Given the description of an element on the screen output the (x, y) to click on. 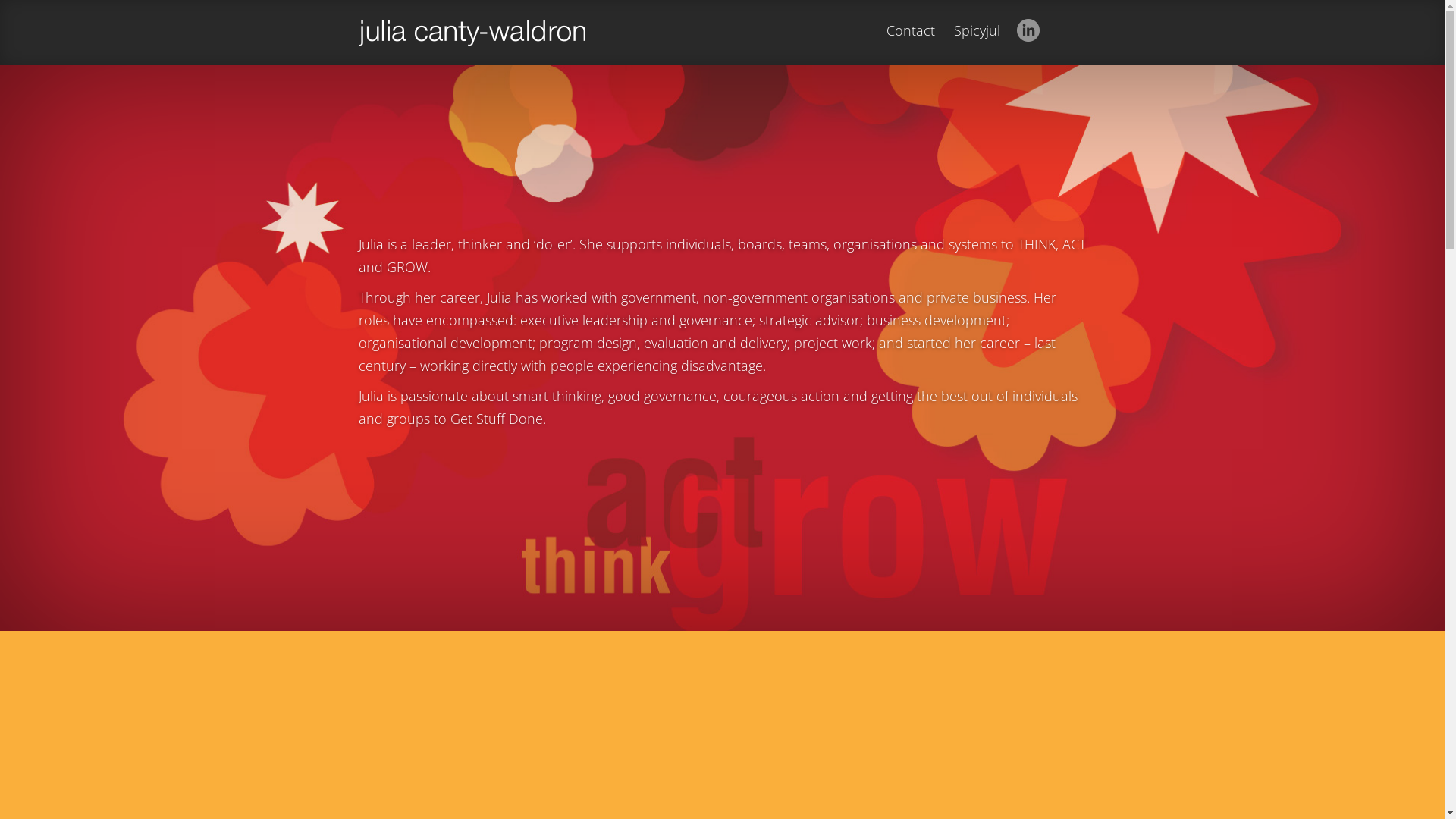
Contact Element type: text (909, 44)
Spicyjul Element type: text (976, 44)
